Given the description of an element on the screen output the (x, y) to click on. 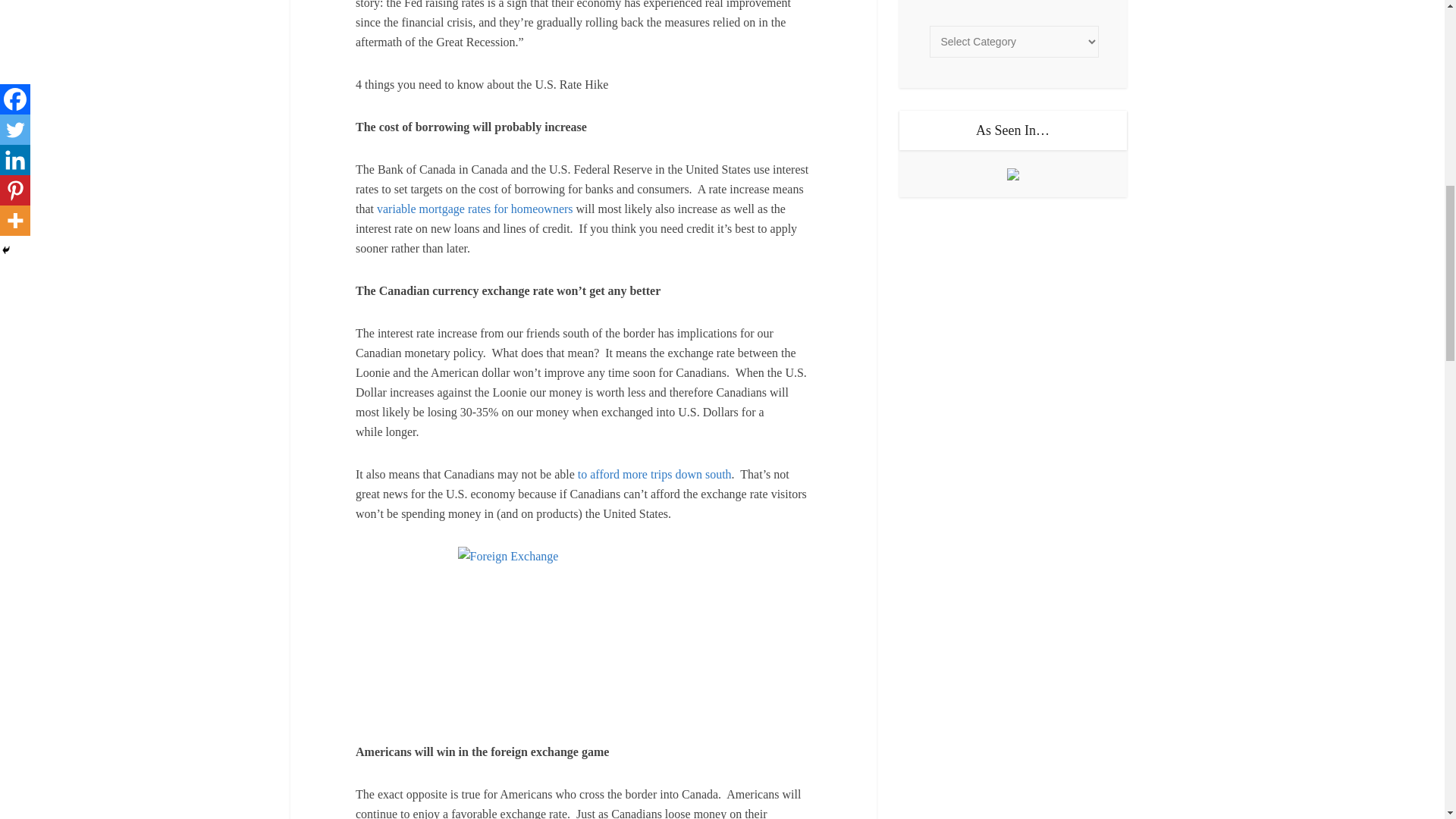
to afford more trips down south (655, 473)
variable mortgage rates for homeowners (475, 208)
